Given the description of an element on the screen output the (x, y) to click on. 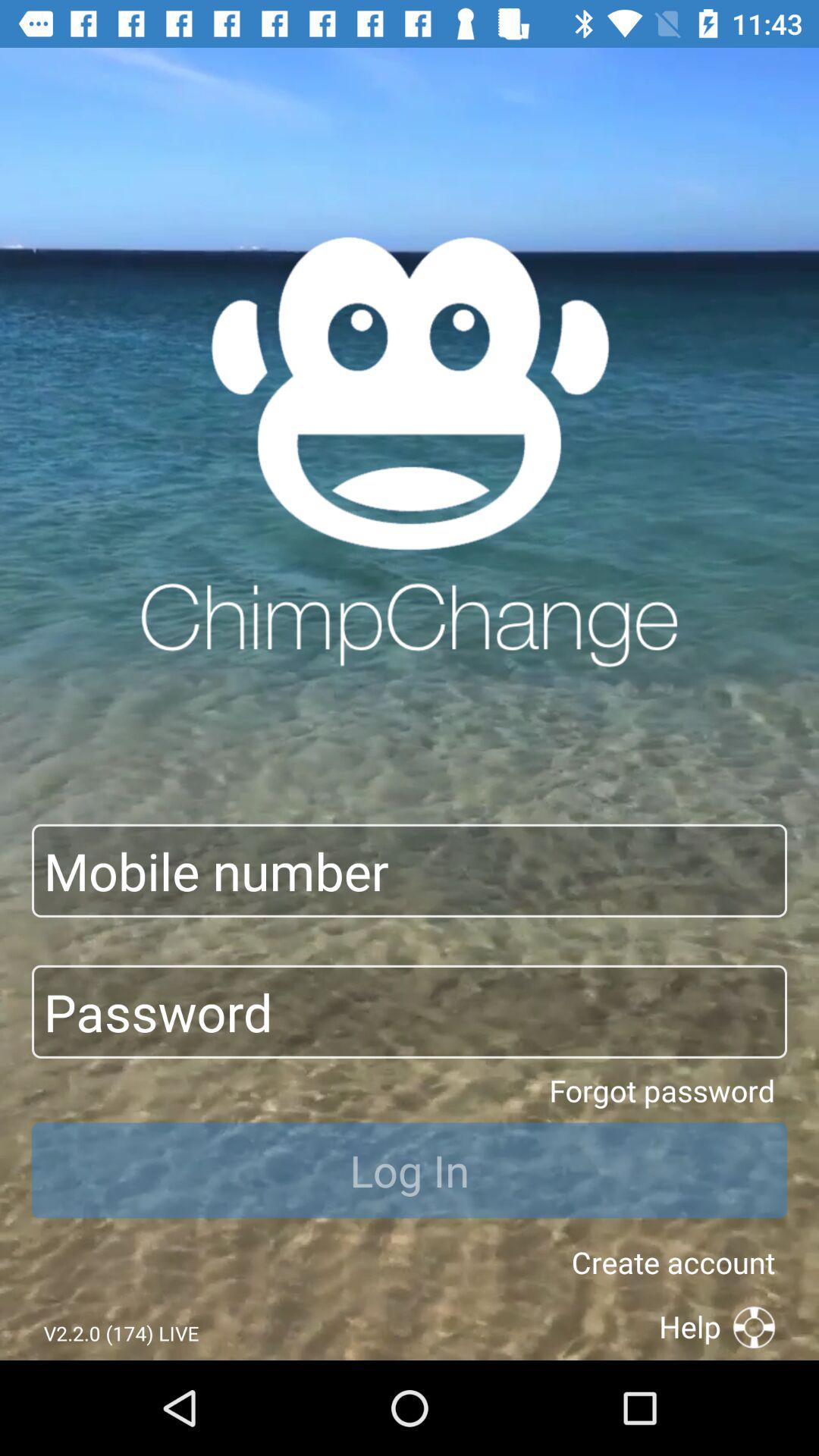
enter a password (409, 1011)
